Given the description of an element on the screen output the (x, y) to click on. 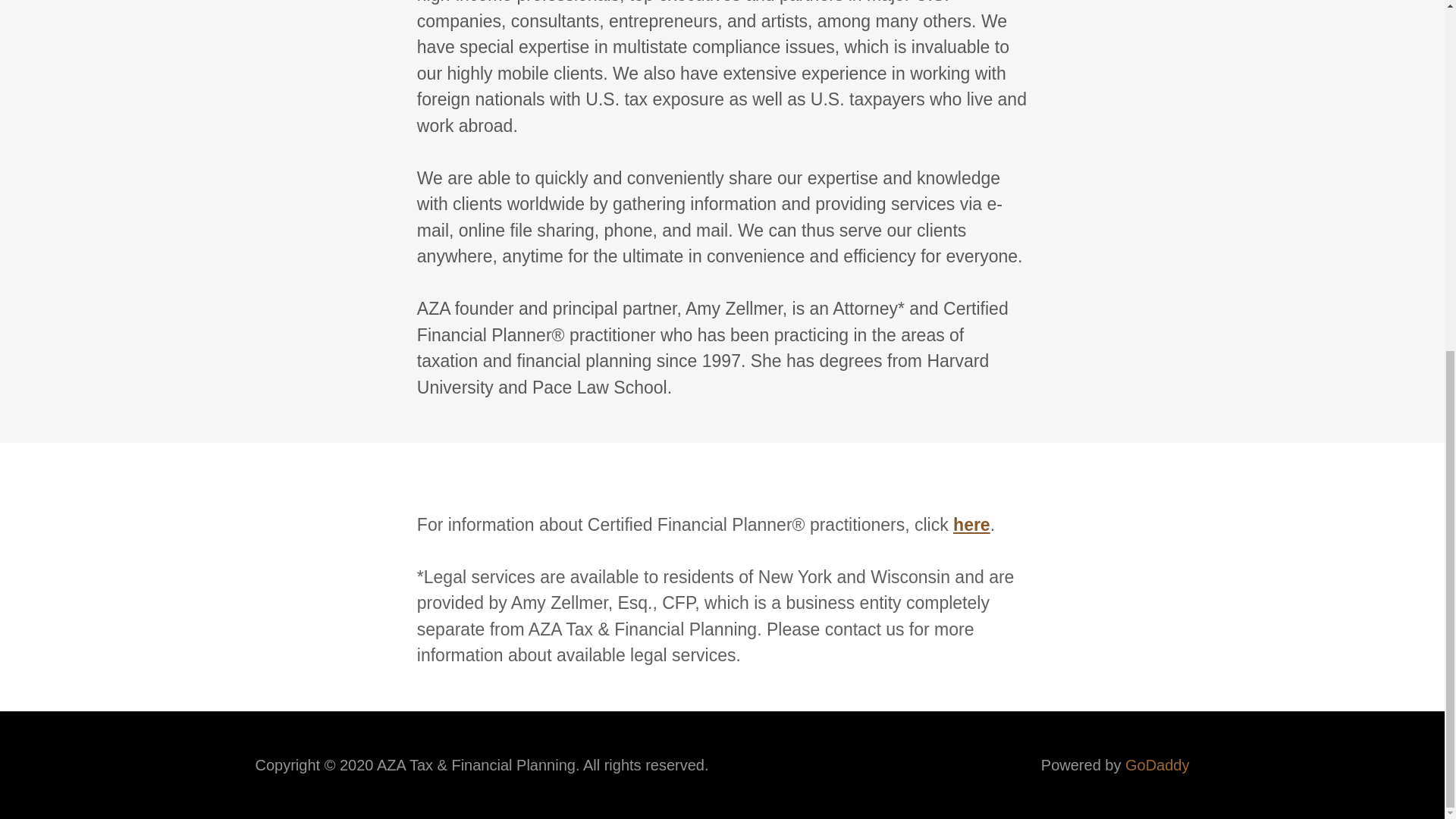
here (971, 523)
GoDaddy (1157, 764)
